Given the description of an element on the screen output the (x, y) to click on. 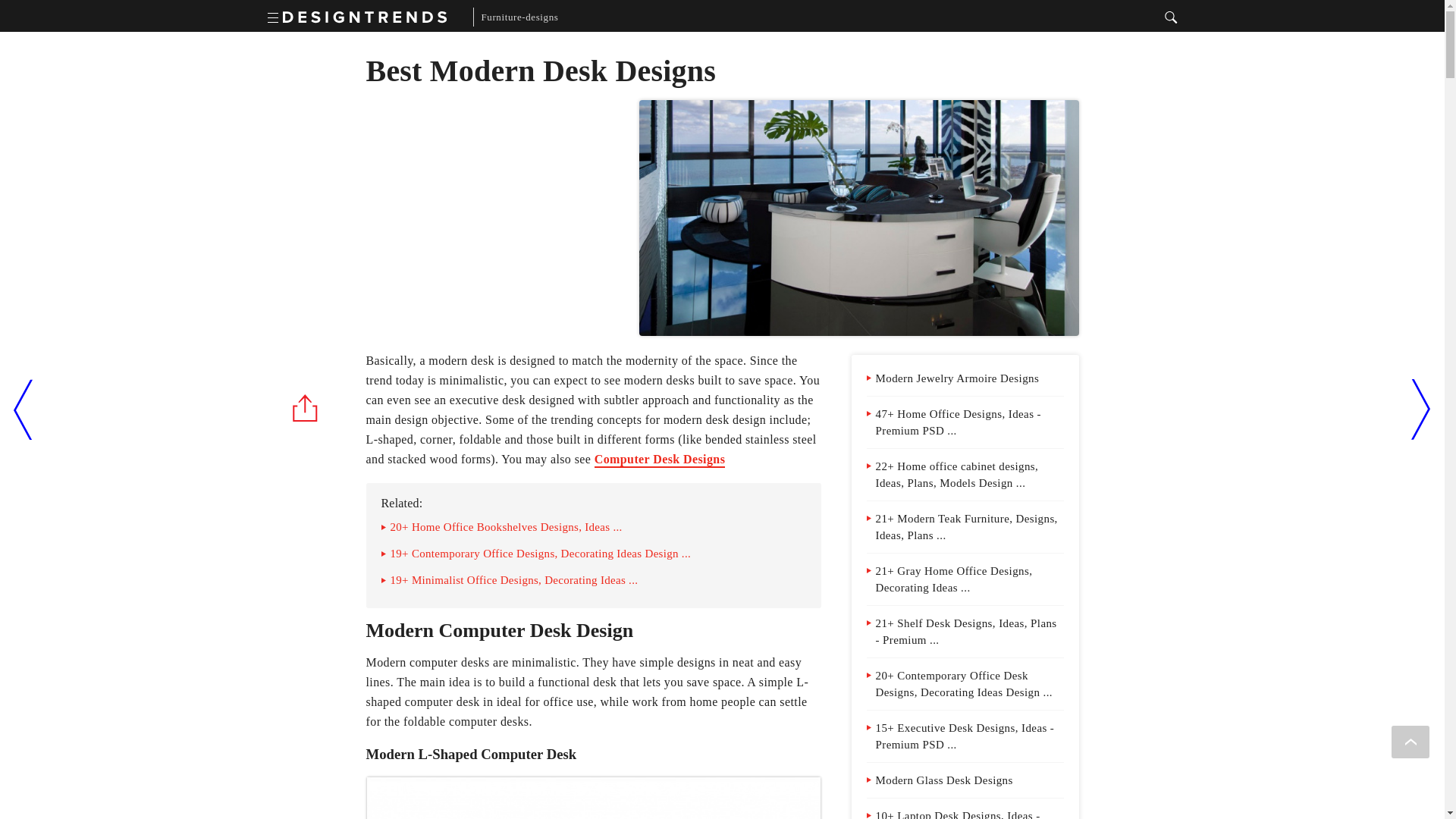
Computer Desk Designs (659, 459)
Furniture-designs (516, 16)
